Given the description of an element on the screen output the (x, y) to click on. 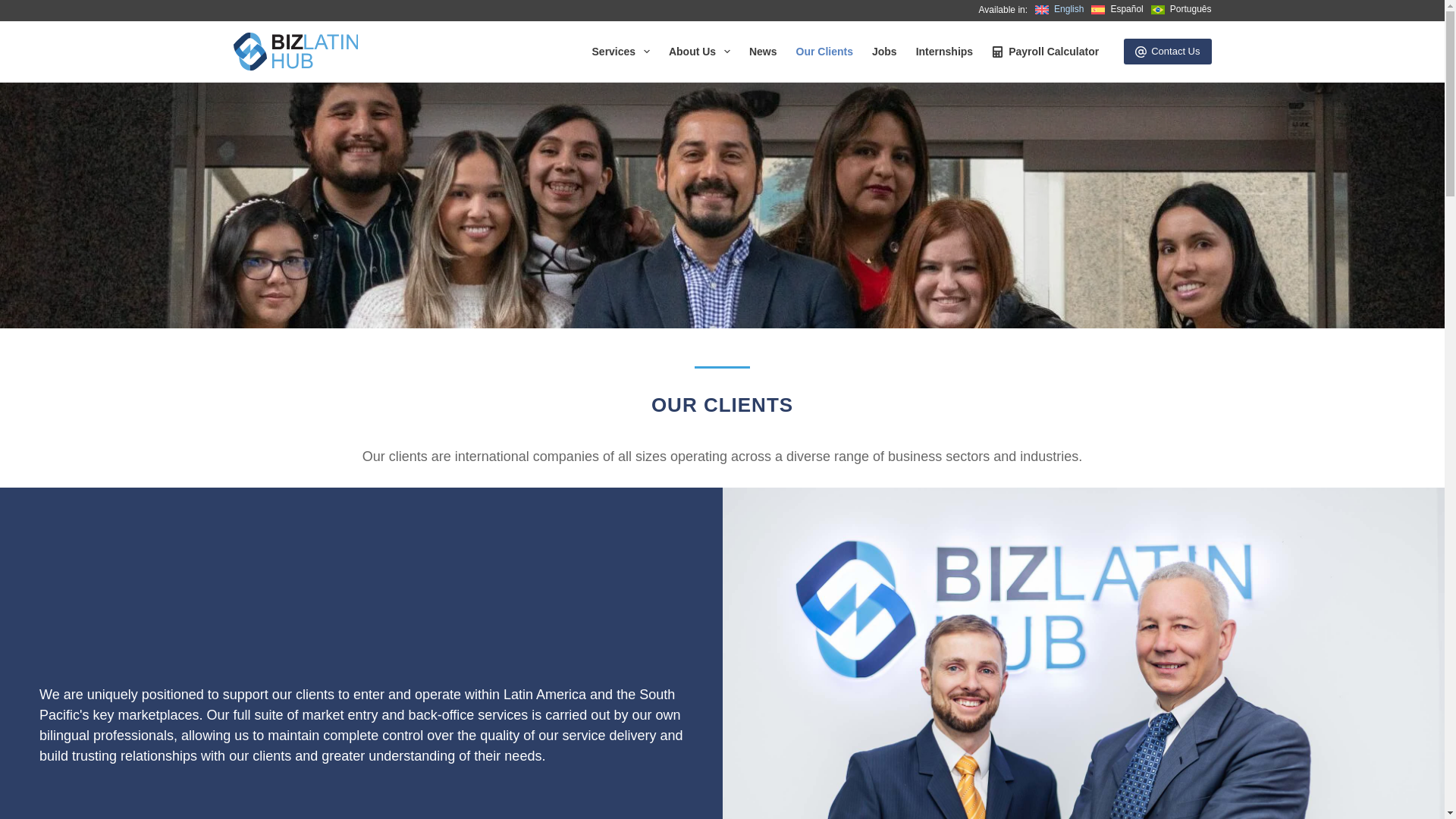
About Us (699, 51)
English (1059, 9)
Skip to content (15, 7)
Services (620, 51)
